Given the description of an element on the screen output the (x, y) to click on. 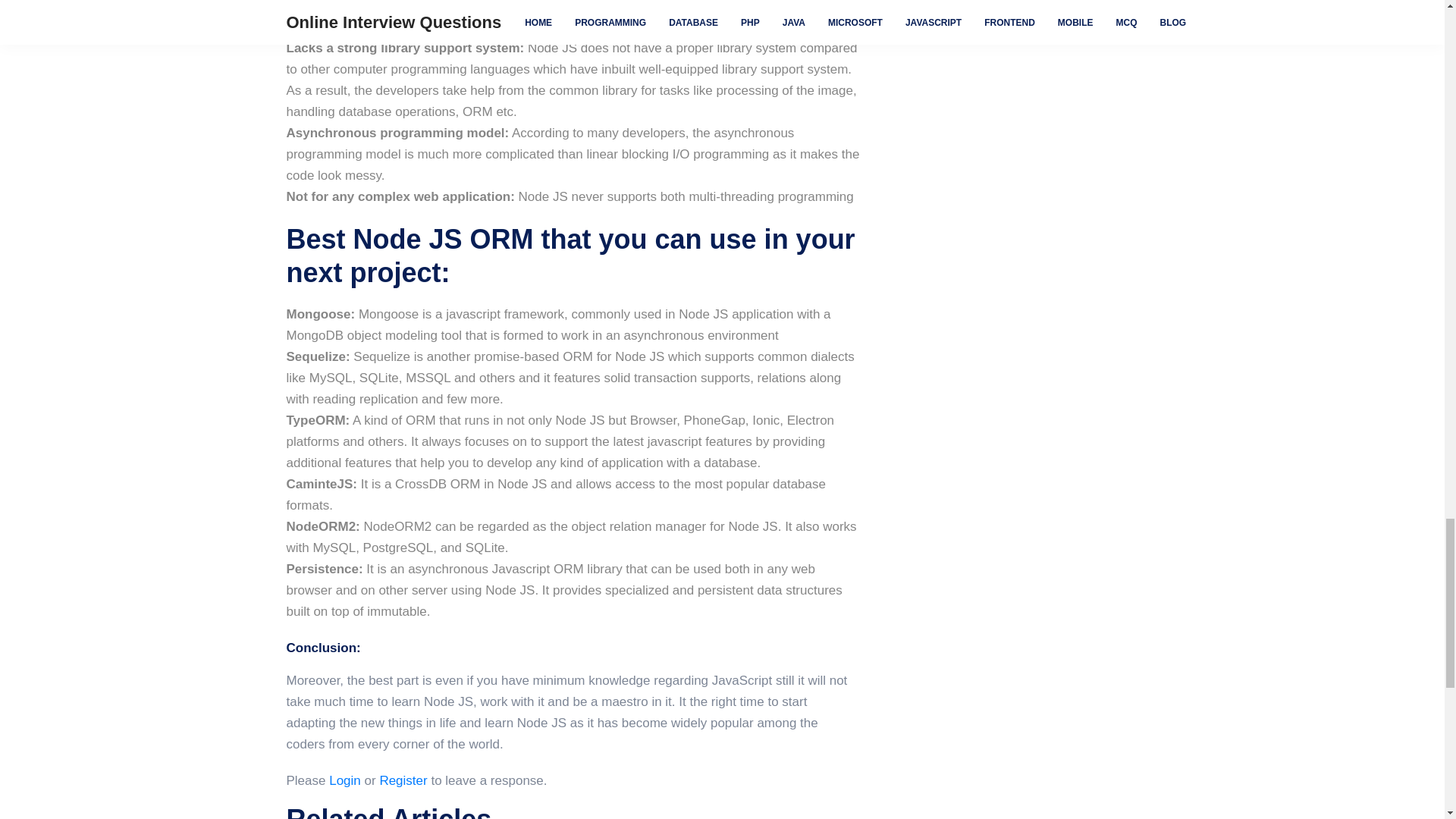
Register (402, 780)
Login (345, 780)
